Given the description of an element on the screen output the (x, y) to click on. 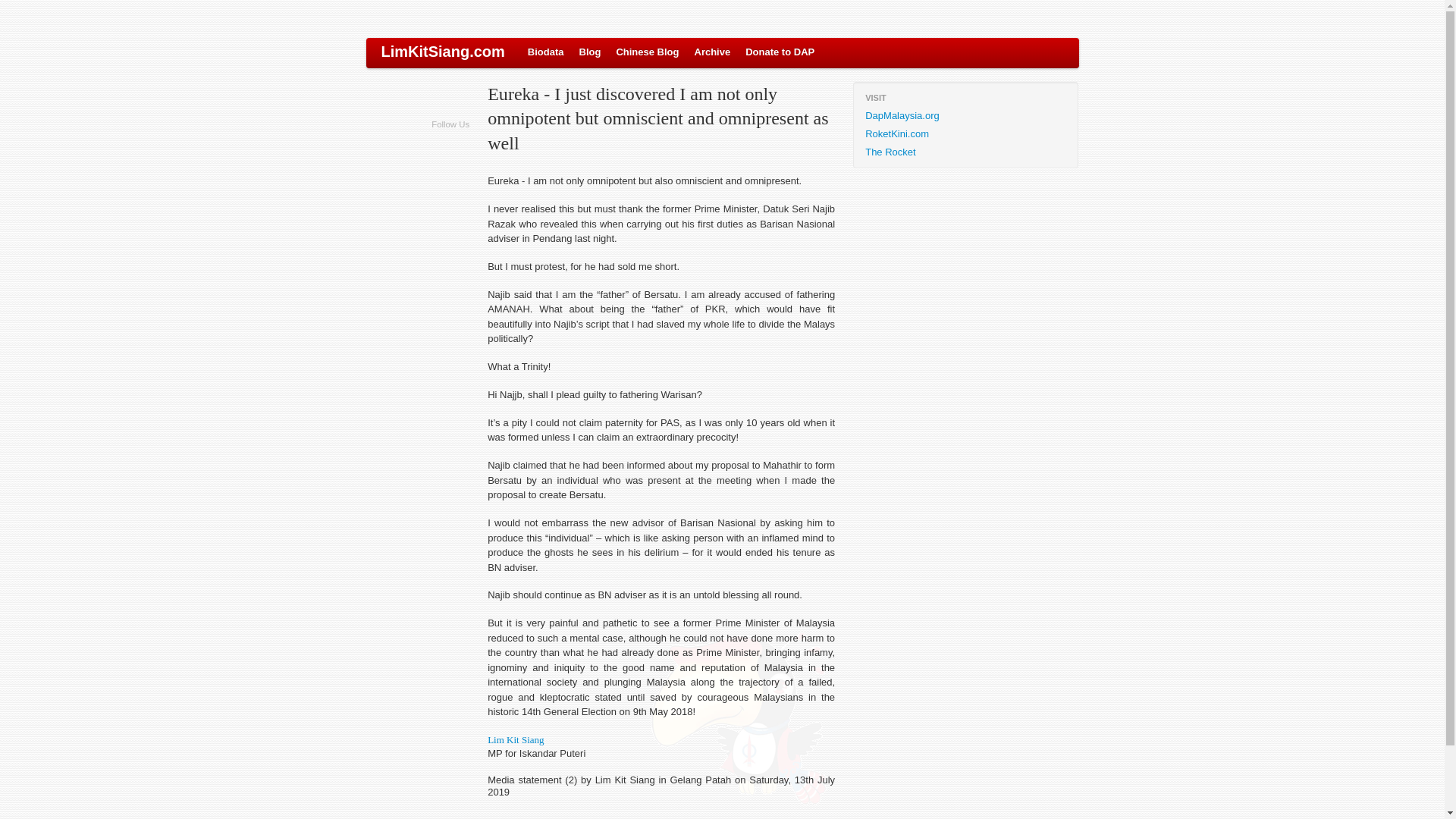
Chinese Blog (646, 52)
The Rocket (965, 152)
Archive (712, 52)
DapMalaysia.org (965, 116)
Lim Kit Siang (515, 739)
Blog (590, 52)
LimKitSiang.com (442, 52)
Donate to DAP (780, 52)
RoketKini.com (965, 134)
Biodata (545, 52)
